Given the description of an element on the screen output the (x, y) to click on. 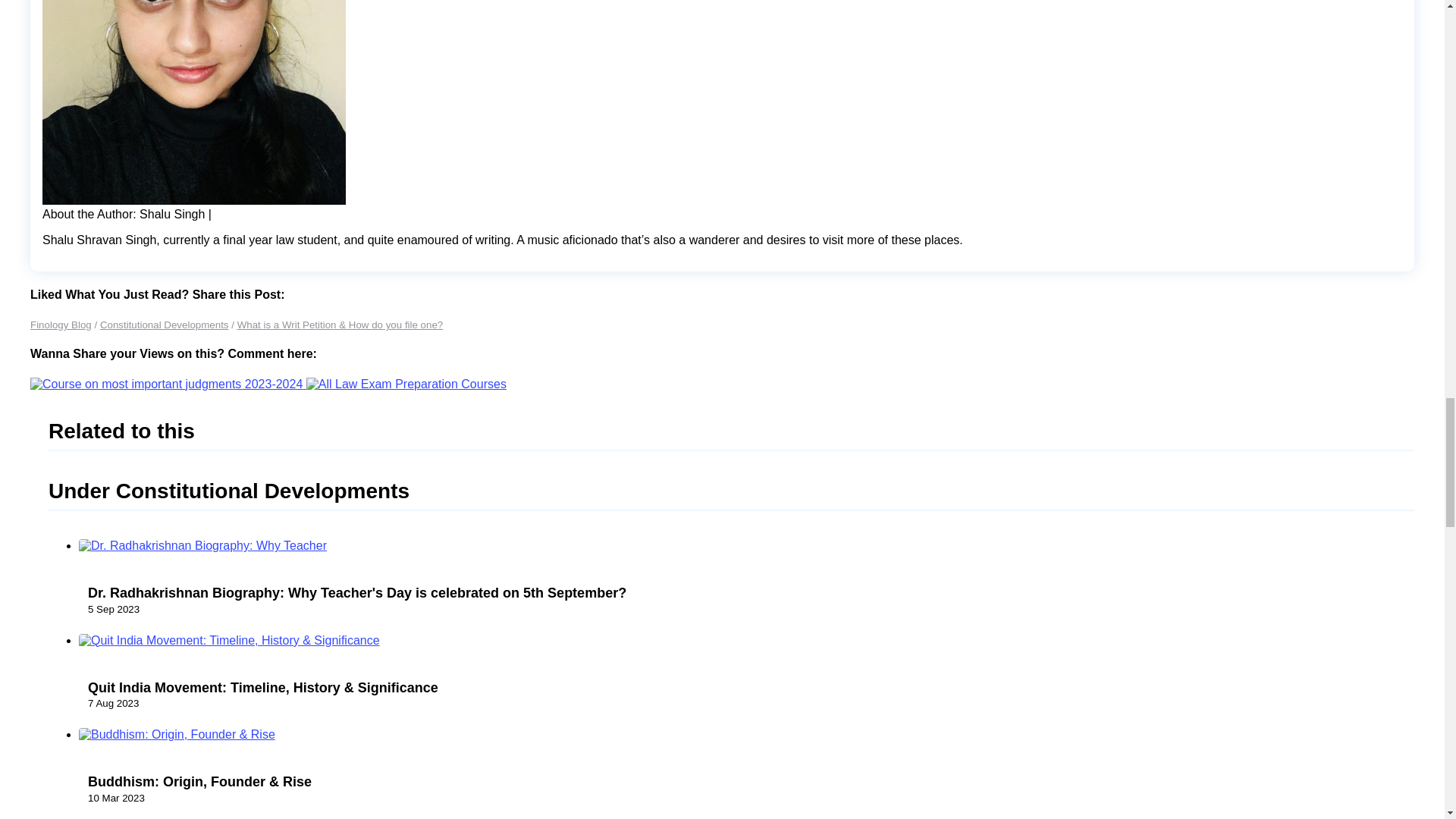
Finology Blog (60, 324)
Constitutional Developments (164, 324)
